Given the description of an element on the screen output the (x, y) to click on. 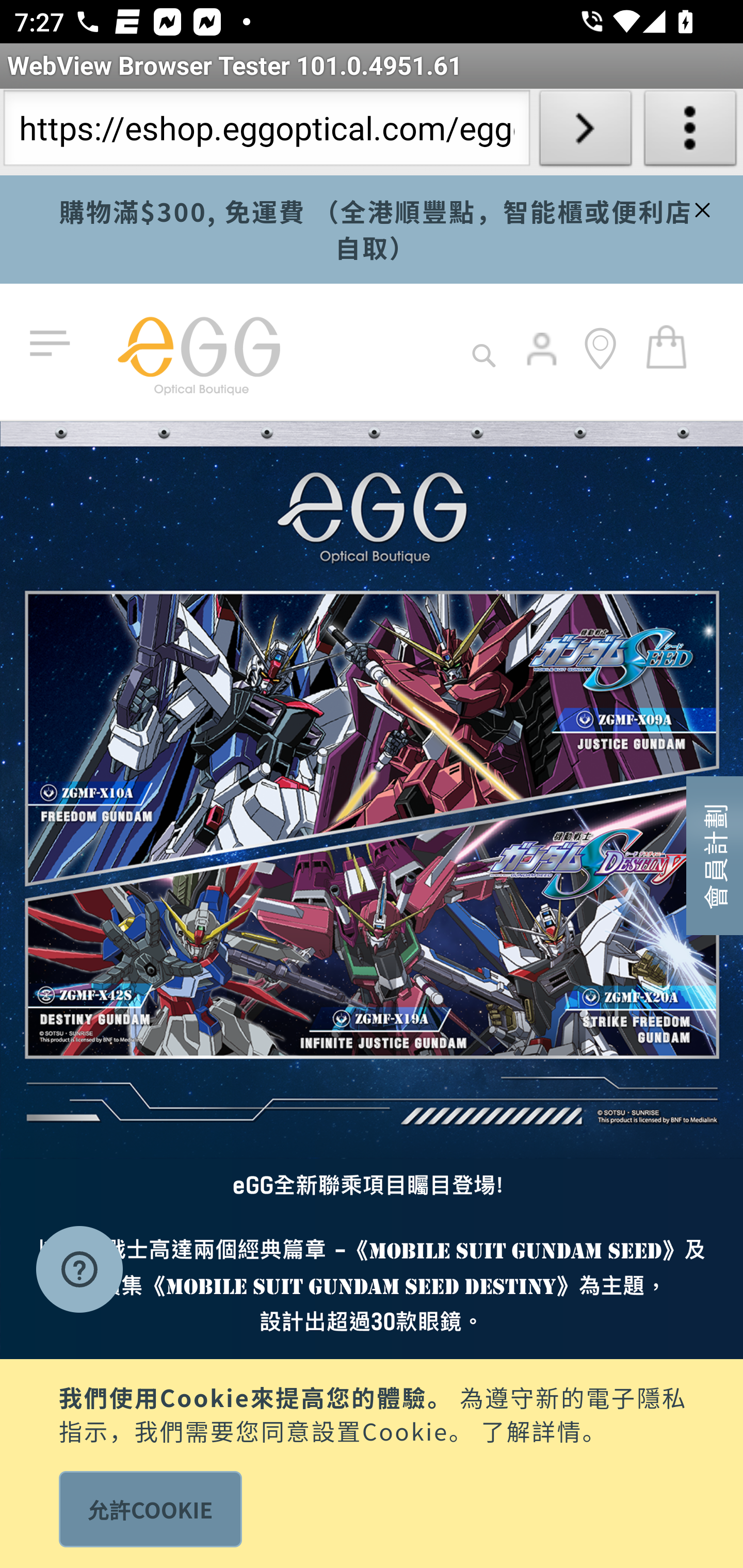
Load URL (585, 132)
About WebView (690, 132)
 (699, 206)
store logo eGG 網上商店 (198, 351)
切換導航 (54, 343)
我的購物車 (666, 345)
login (543, 362)
會員計劃 (714, 854)
Opens a widget where you can find more information (79, 1270)
了解詳情 (531, 1429)
允許COOKIE (149, 1509)
